Given the description of an element on the screen output the (x, y) to click on. 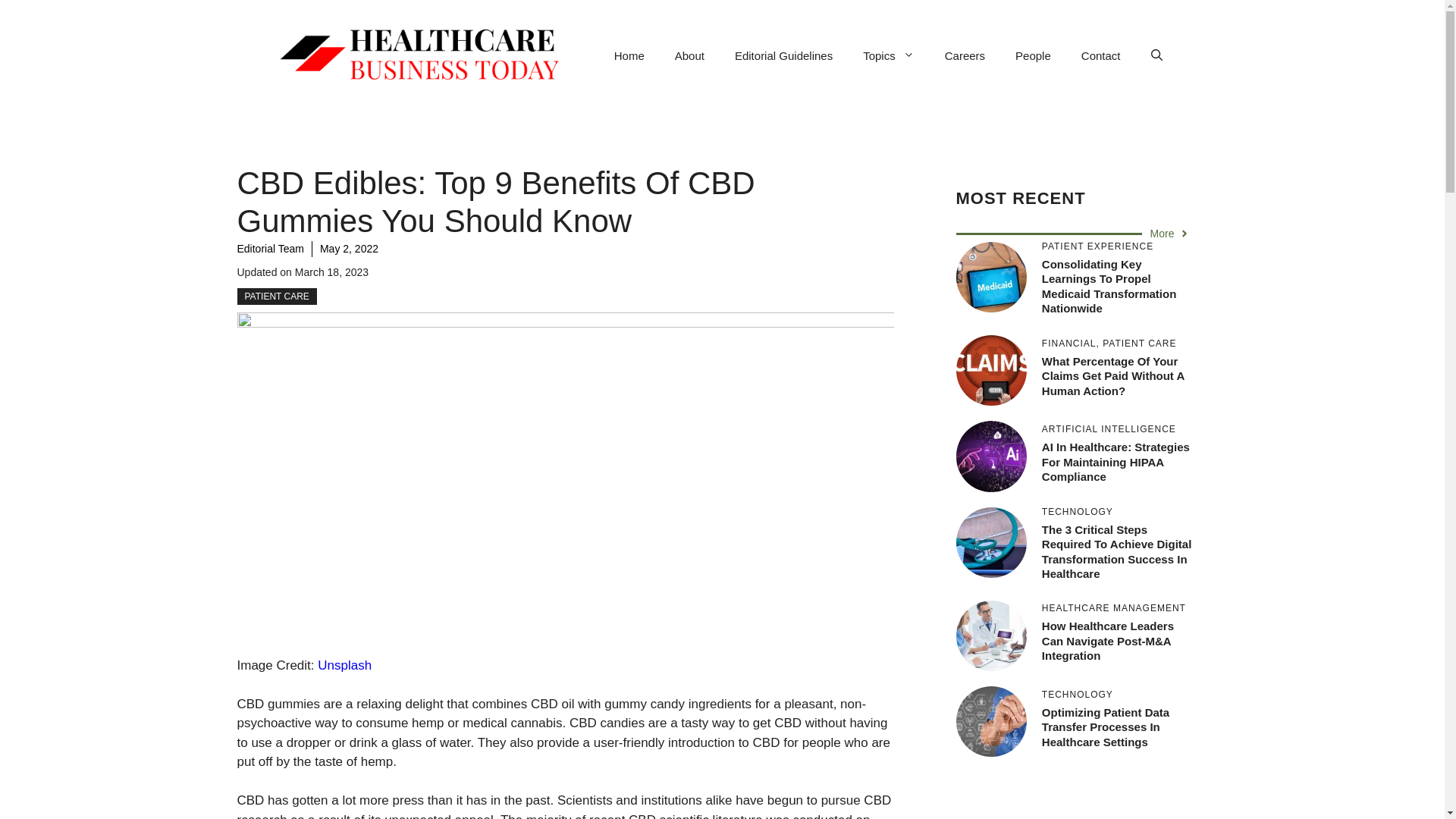
About (689, 55)
Contact (1100, 55)
Home (628, 55)
Editorial Team (268, 248)
PATIENT CARE (275, 296)
Editorial Guidelines (783, 55)
People (1032, 55)
More (1170, 233)
Topics (888, 55)
Careers (965, 55)
Unsplash (344, 665)
